Given the description of an element on the screen output the (x, y) to click on. 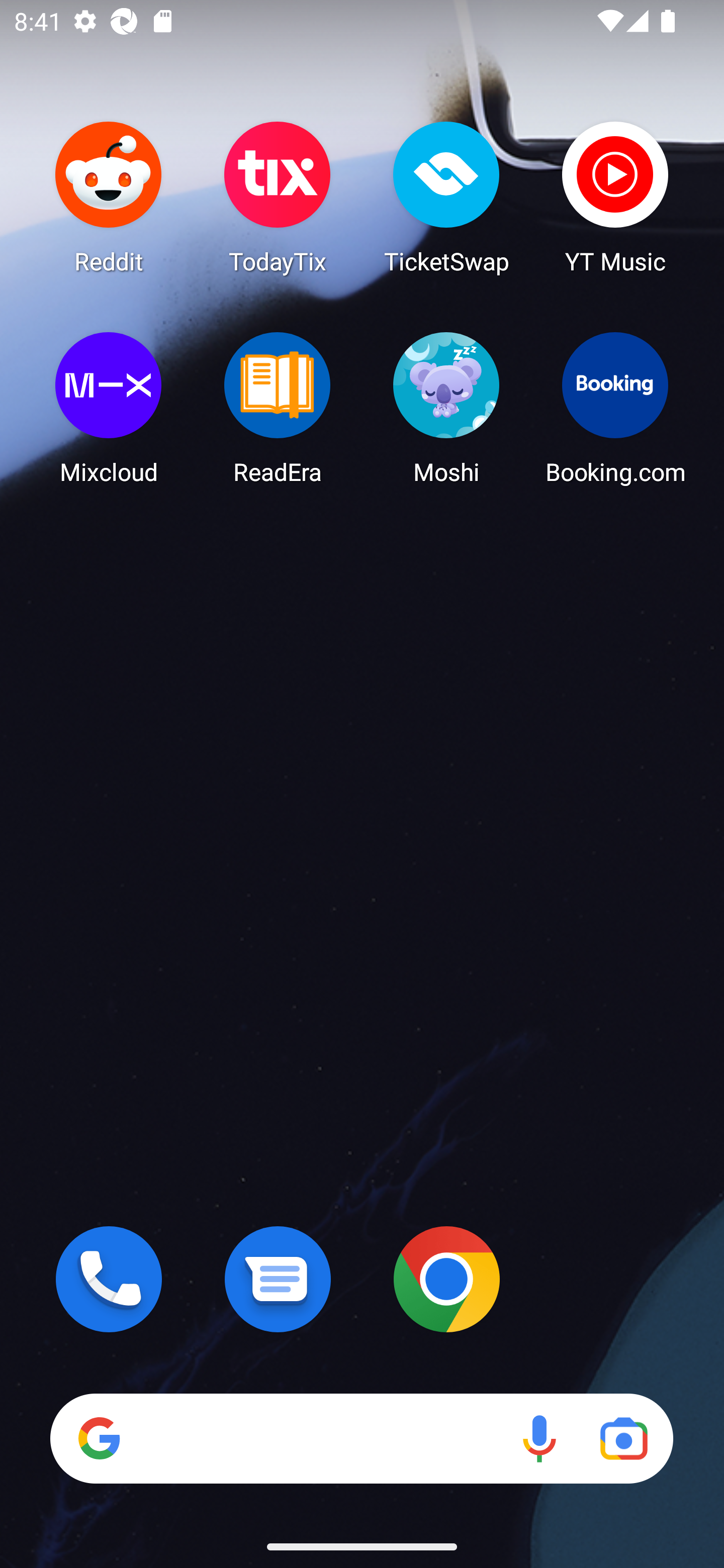
Reddit (108, 196)
TodayTix (277, 196)
TicketSwap (445, 196)
YT Music (615, 196)
Mixcloud (108, 407)
ReadEra (277, 407)
Moshi (445, 407)
Booking.com (615, 407)
Phone (108, 1279)
Messages (277, 1279)
Chrome (446, 1279)
Search Voice search Google Lens (361, 1438)
Voice search (539, 1438)
Google Lens (623, 1438)
